Given the description of an element on the screen output the (x, y) to click on. 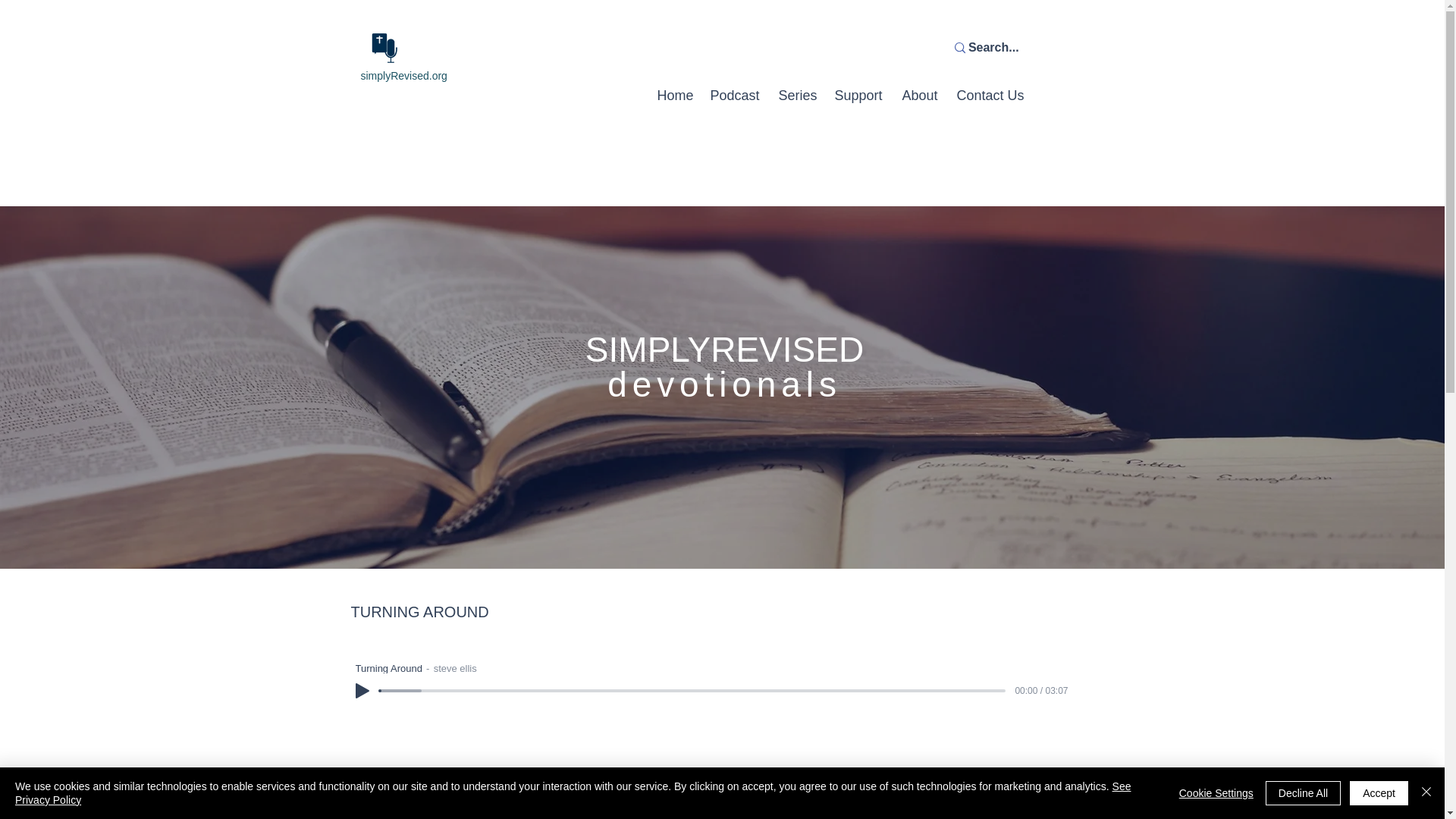
Support (860, 100)
Series (798, 100)
0 (692, 690)
Contact Us (992, 100)
Home (675, 100)
Podcast (735, 100)
